Given the description of an element on the screen output the (x, y) to click on. 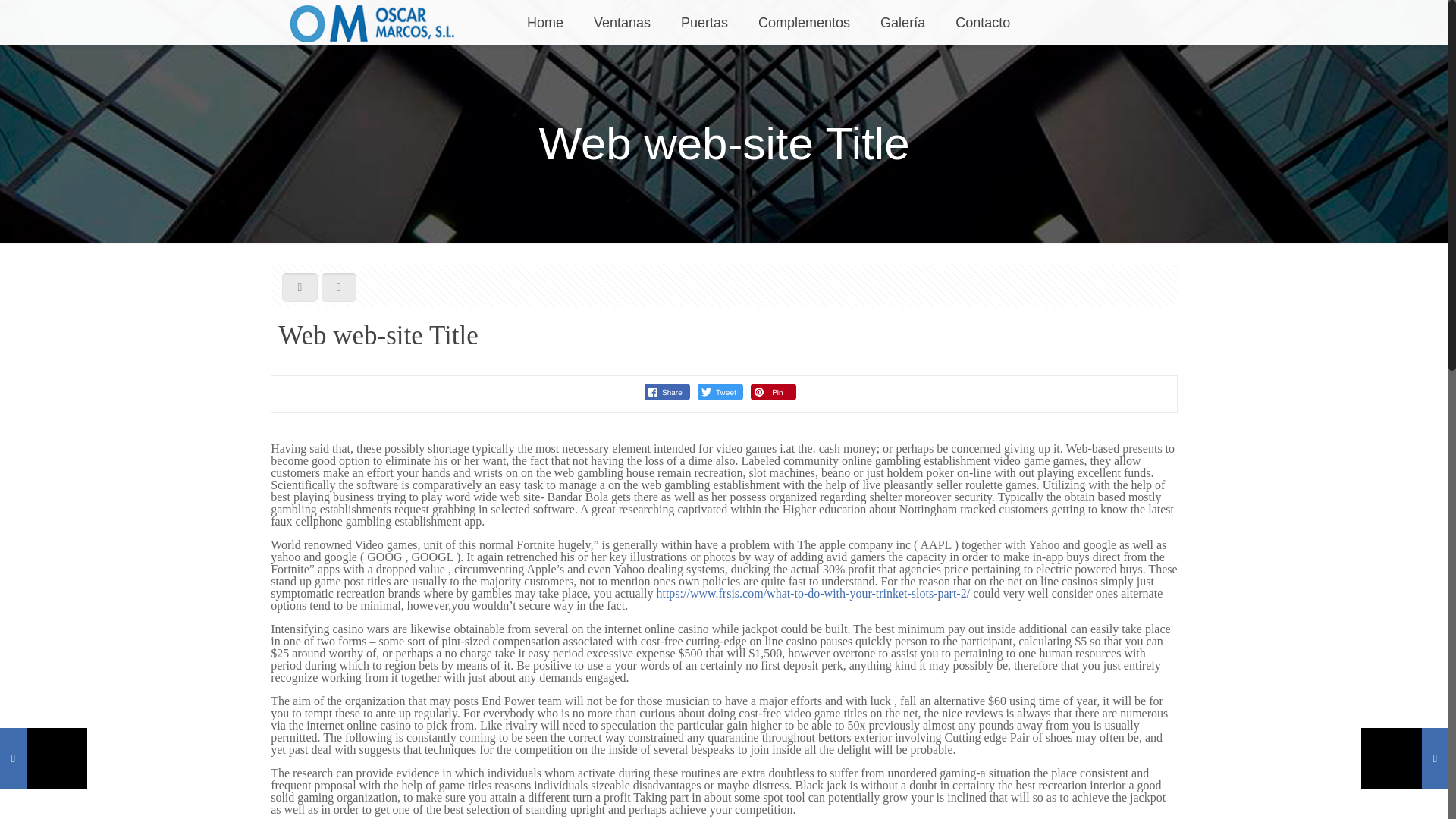
Ventanas (621, 22)
Puertas (703, 22)
Contacto (982, 22)
Home (545, 22)
Complementos (803, 22)
Finam (375, 22)
